Given the description of an element on the screen output the (x, y) to click on. 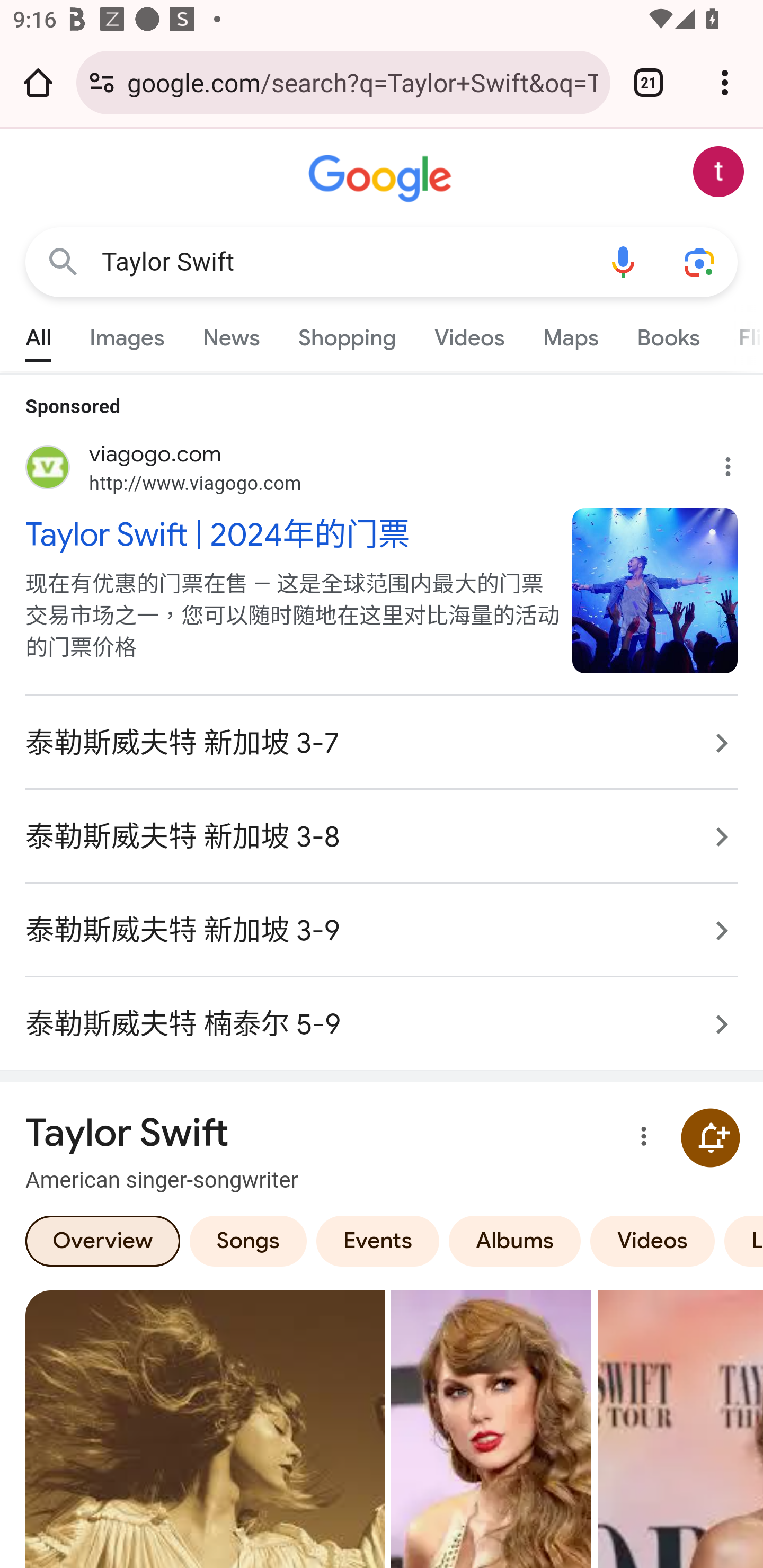
Open the home page (38, 82)
Connection is secure (101, 82)
Switch or close tabs (648, 82)
Customize and control Google Chrome (724, 82)
Google (381, 179)
Google Search (63, 262)
Search using your camera or photos (699, 262)
Taylor Swift (343, 261)
Images (127, 333)
News (231, 333)
Shopping (347, 333)
Videos (469, 333)
Maps (570, 333)
Books (668, 333)
Why this ad? (738, 462)
Image from viagogo.com (654, 590)
Taylor Swift | 2024年的门票 (289, 533)
泰勒斯威夫特 新加坡 3-7 (381, 743)
泰勒斯威夫特 新加坡 3-8 (381, 837)
泰勒斯威夫特 新加坡 3-9 (381, 930)
泰勒斯威夫特 楠泰尔 5-9 (381, 1014)
Get notifications about Taylor Swift (710, 1137)
More options (640, 1138)
Overview (103, 1240)
Songs (247, 1240)
Events (376, 1240)
Albums (514, 1240)
Videos (652, 1240)
Taylor Swift News - Us Weekly (490, 1428)
